Given the description of an element on the screen output the (x, y) to click on. 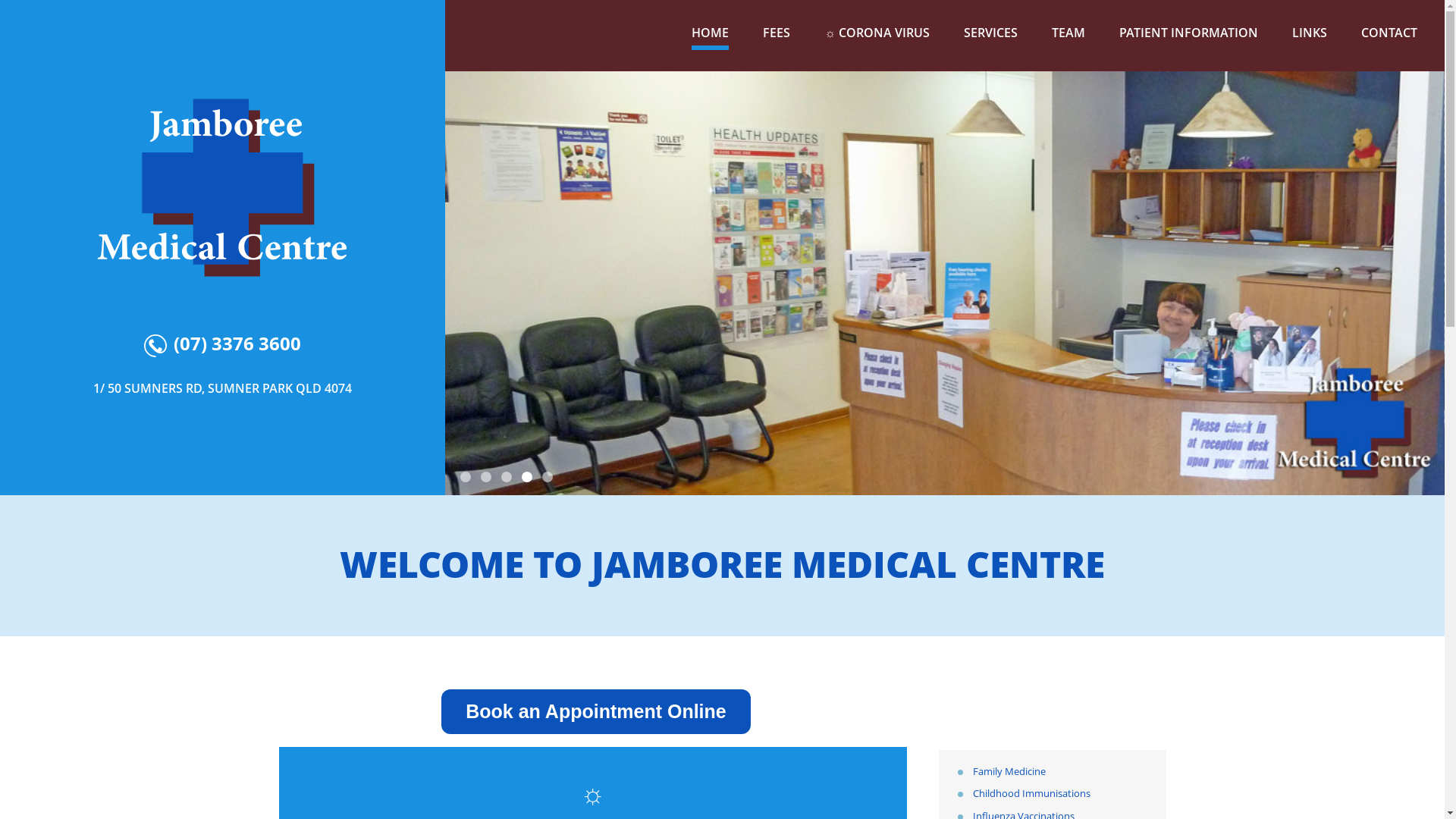
PATIENT INFORMATION Element type: text (1188, 33)
Book an Appointment Online Element type: text (595, 714)
SERVICES Element type: text (990, 33)
(07) 3376 3600 Element type: text (222, 344)
1/ 50 SUMNERS RD, SUMNER PARK QLD 4074 Element type: text (222, 388)
TEAM Element type: text (1068, 33)
FEES Element type: text (776, 33)
LINKS Element type: text (1309, 33)
HOME Element type: text (709, 33)
CONTACT Element type: text (1389, 33)
